Given the description of an element on the screen output the (x, y) to click on. 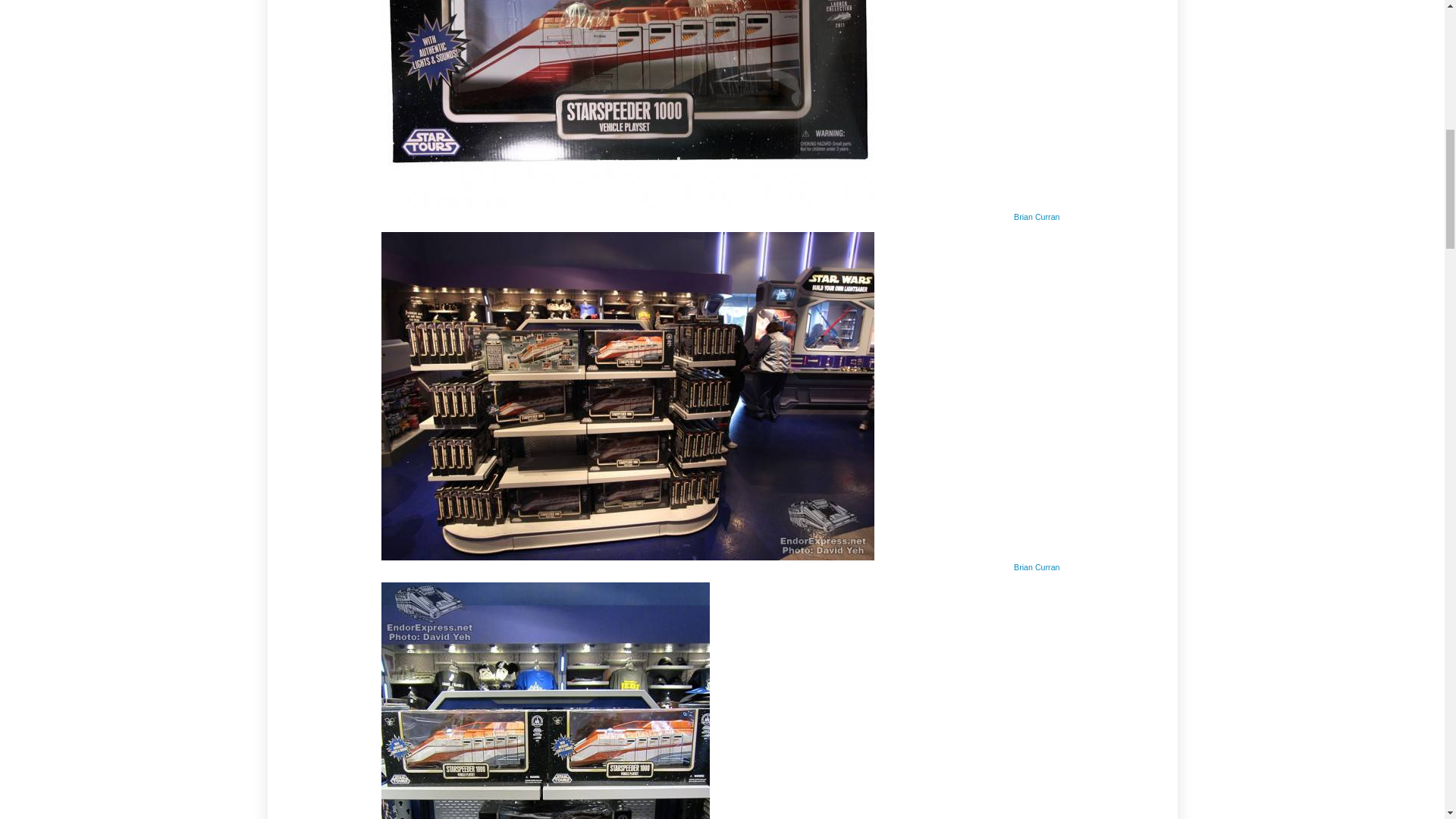
Brian Curran (1036, 566)
Brian Curran (1036, 216)
